Given the description of an element on the screen output the (x, y) to click on. 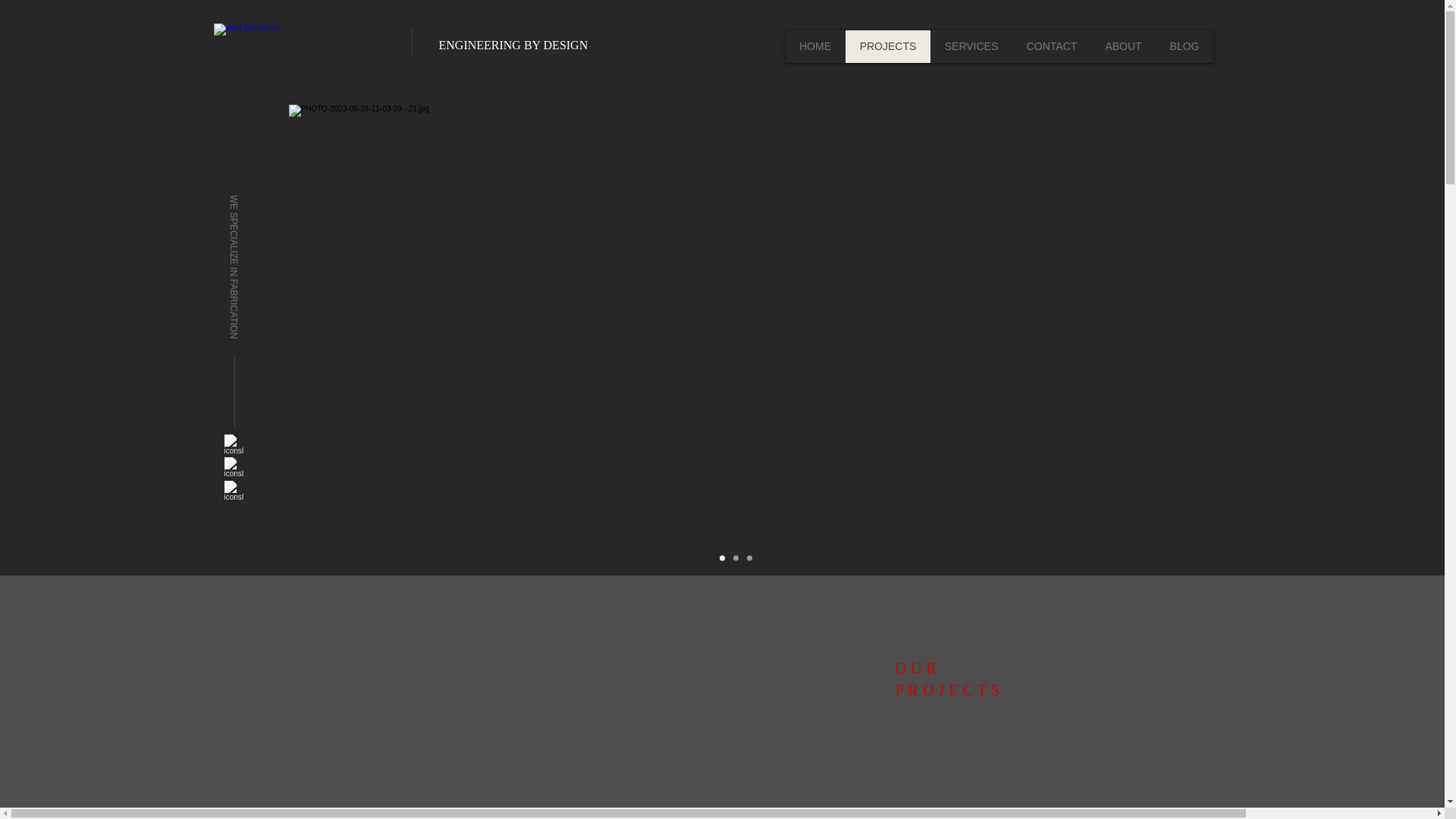
CONTACT (1050, 46)
BLOG (1184, 46)
PROJECTS (887, 46)
steel fabrication (293, 43)
SERVICES (970, 46)
HOME (815, 46)
ABOUT (1122, 46)
